Given the description of an element on the screen output the (x, y) to click on. 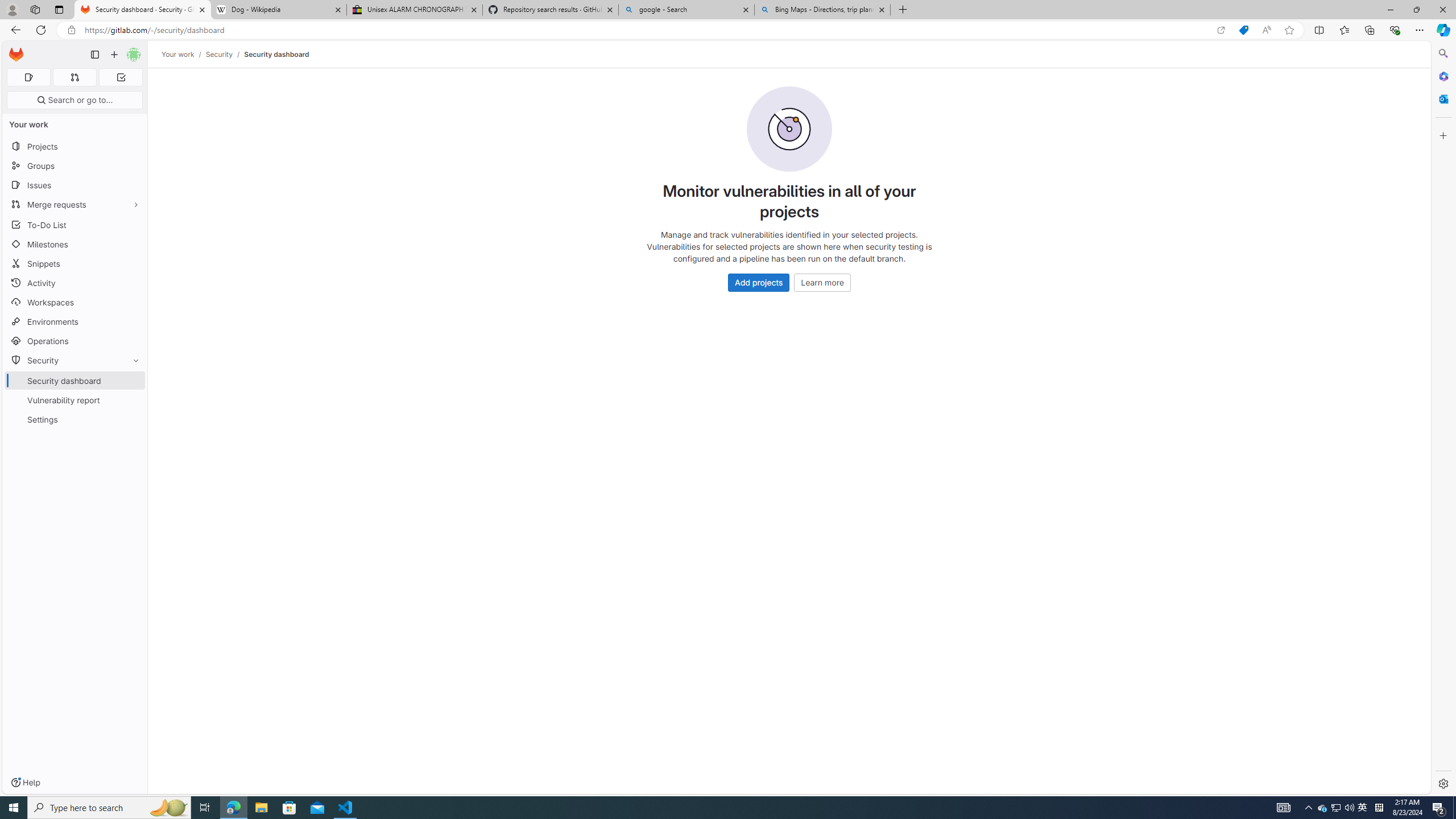
Vulnerability report (74, 399)
Learn more (821, 282)
Activity (74, 282)
